Given the description of an element on the screen output the (x, y) to click on. 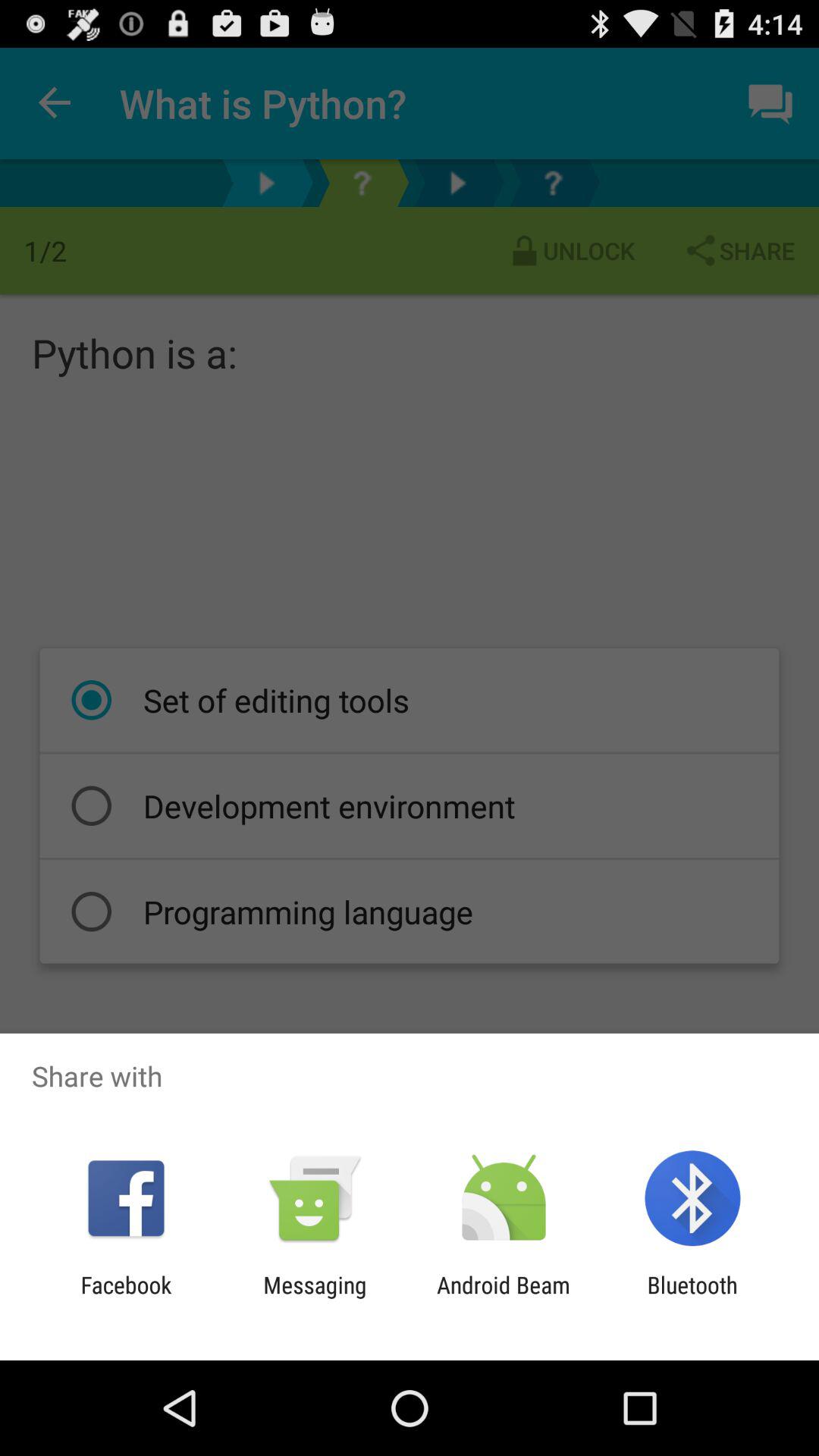
turn off app to the right of messaging item (503, 1298)
